Given the description of an element on the screen output the (x, y) to click on. 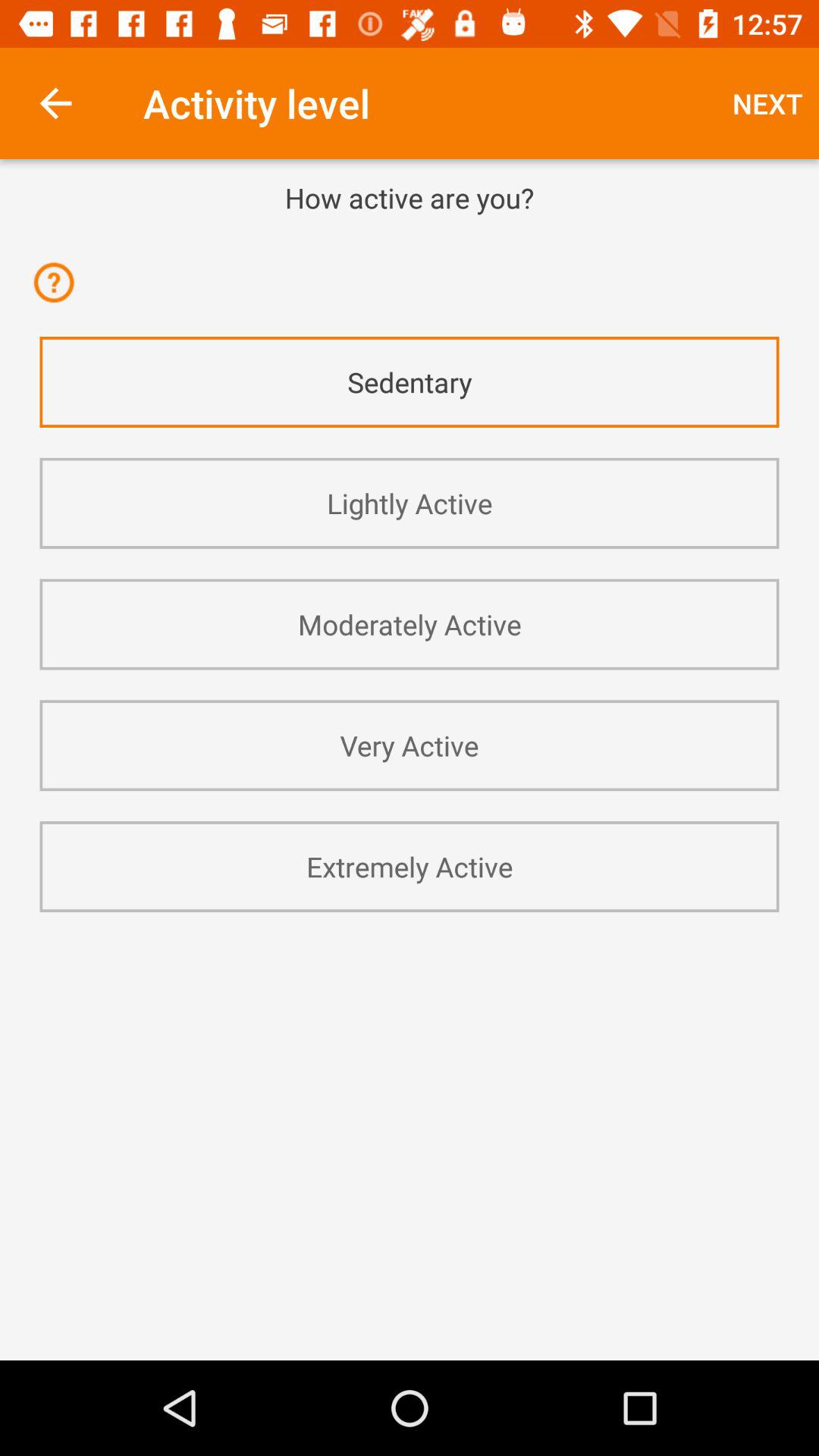
press the app below very active icon (409, 866)
